Given the description of an element on the screen output the (x, y) to click on. 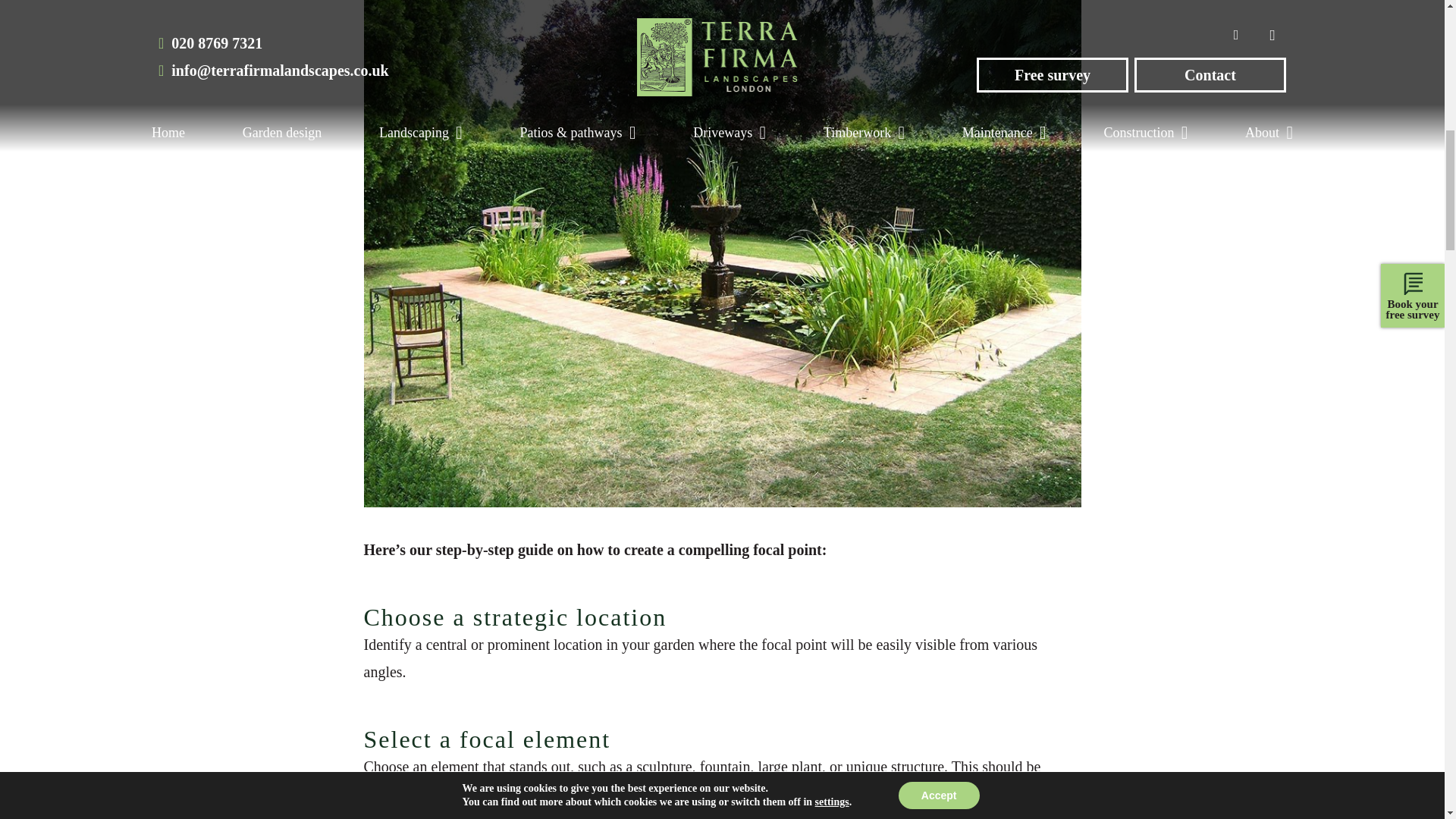
Back to top (1413, 26)
